Given the description of an element on the screen output the (x, y) to click on. 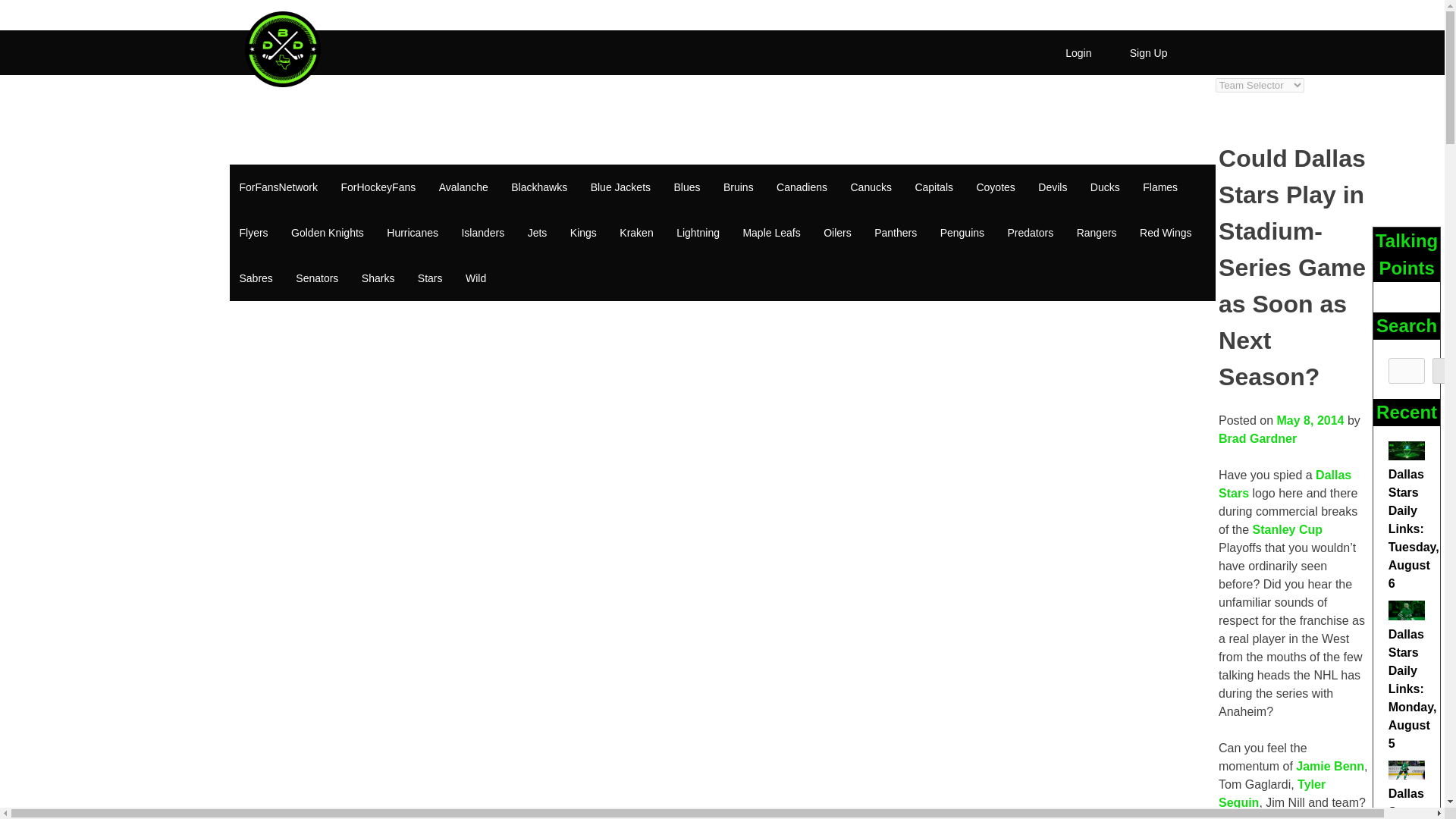
Avalanche (463, 187)
Ducks (1104, 187)
Oilers (837, 232)
Canadiens (802, 187)
Blues (686, 187)
Defending Big D (282, 82)
Predators (1030, 232)
Home (252, 96)
ForFansNetwork (277, 187)
Penguins (962, 232)
Coyotes (995, 187)
Red Wings (1165, 232)
Islanders (482, 232)
Canucks (870, 187)
Rangers (1096, 232)
